Given the description of an element on the screen output the (x, y) to click on. 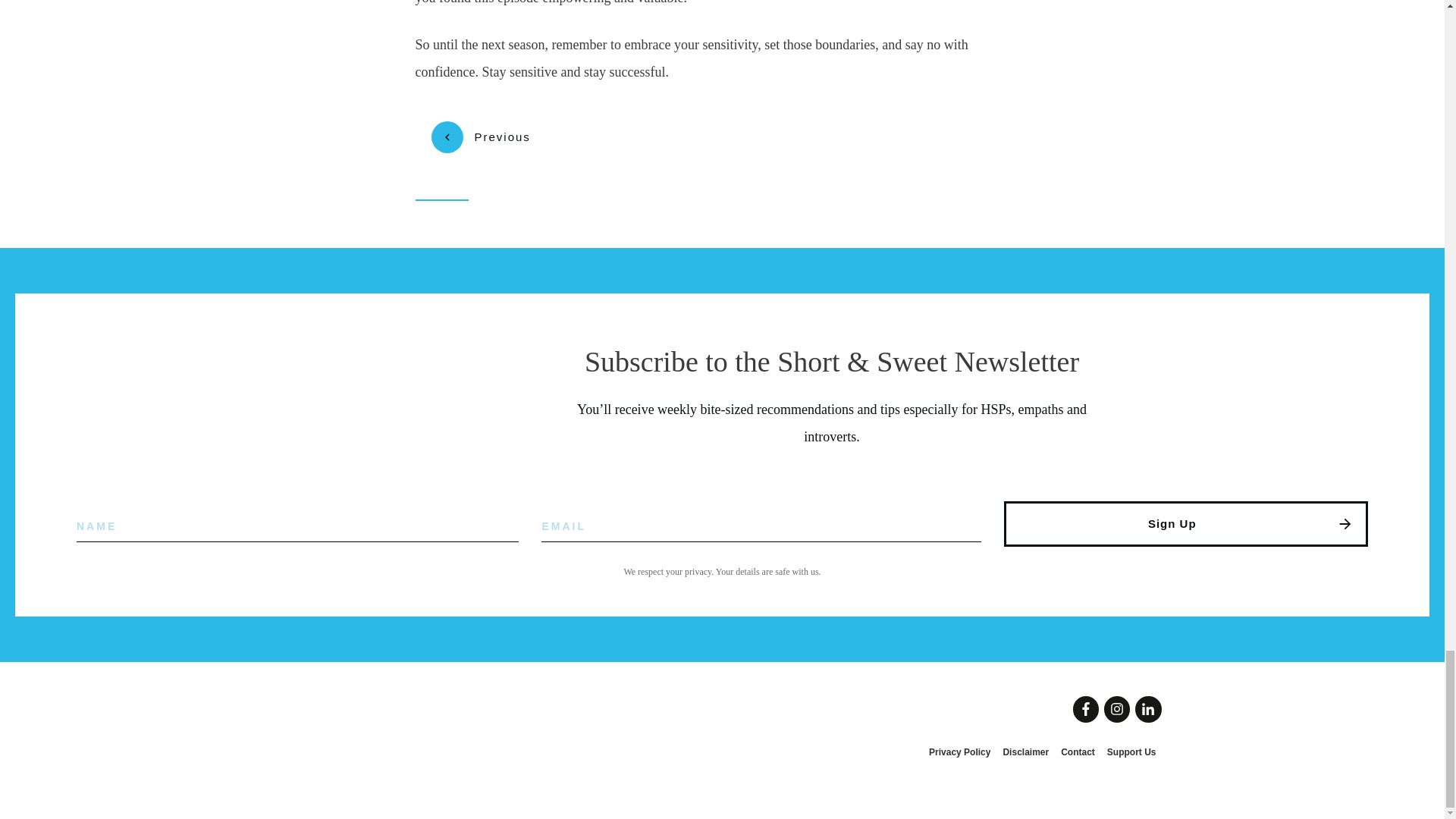
Disclaimer (1025, 751)
Previous (479, 137)
Sign Up (1186, 524)
Privacy Policy (959, 751)
Support Us (1131, 751)
Contact (1077, 751)
